Given the description of an element on the screen output the (x, y) to click on. 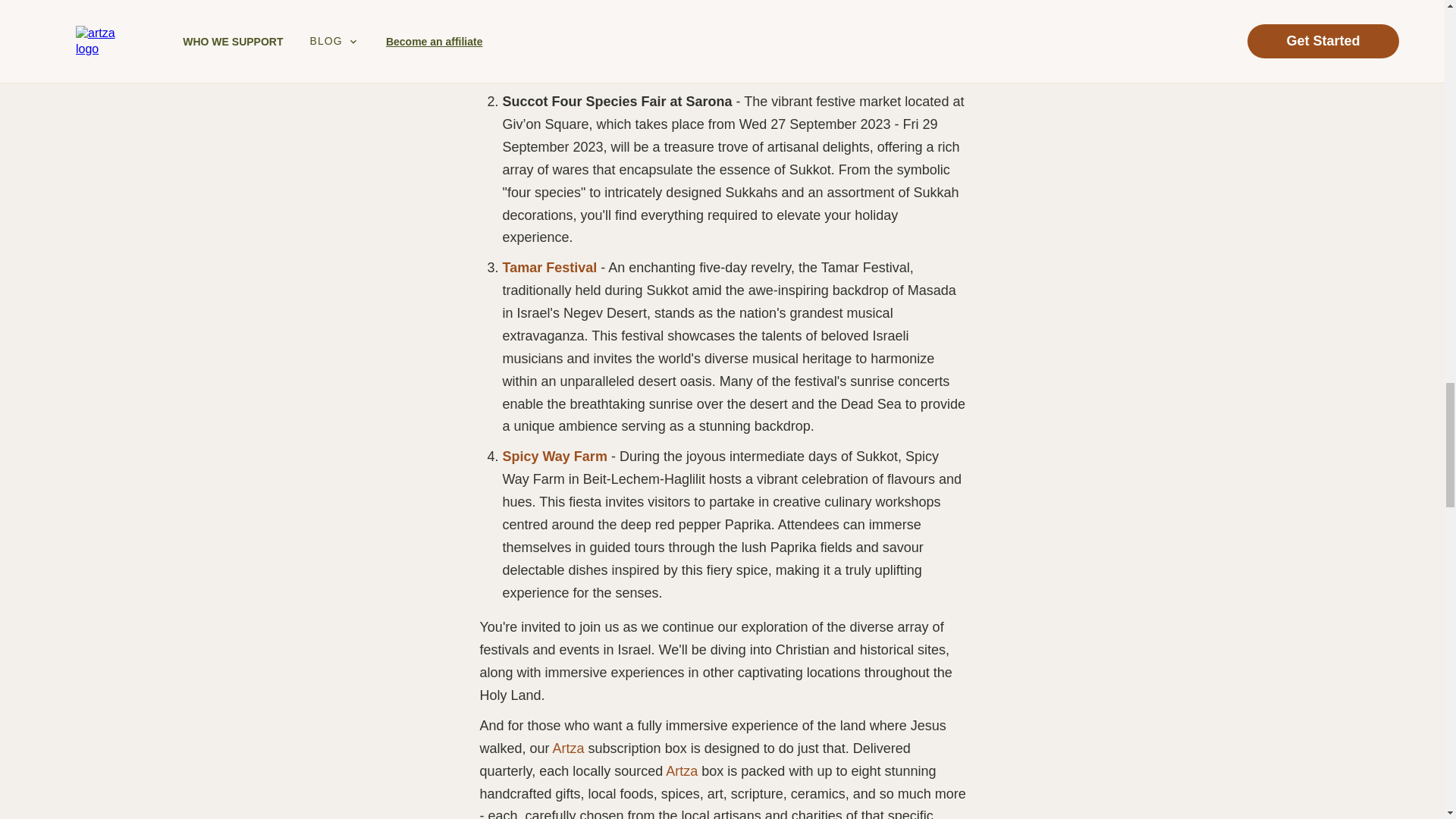
Spicy Way Farm (554, 456)
Tamar Festival  (550, 267)
Artza (569, 748)
International Christian Embassy in Jerusalem (639, 70)
Artza (681, 770)
